Given the description of an element on the screen output the (x, y) to click on. 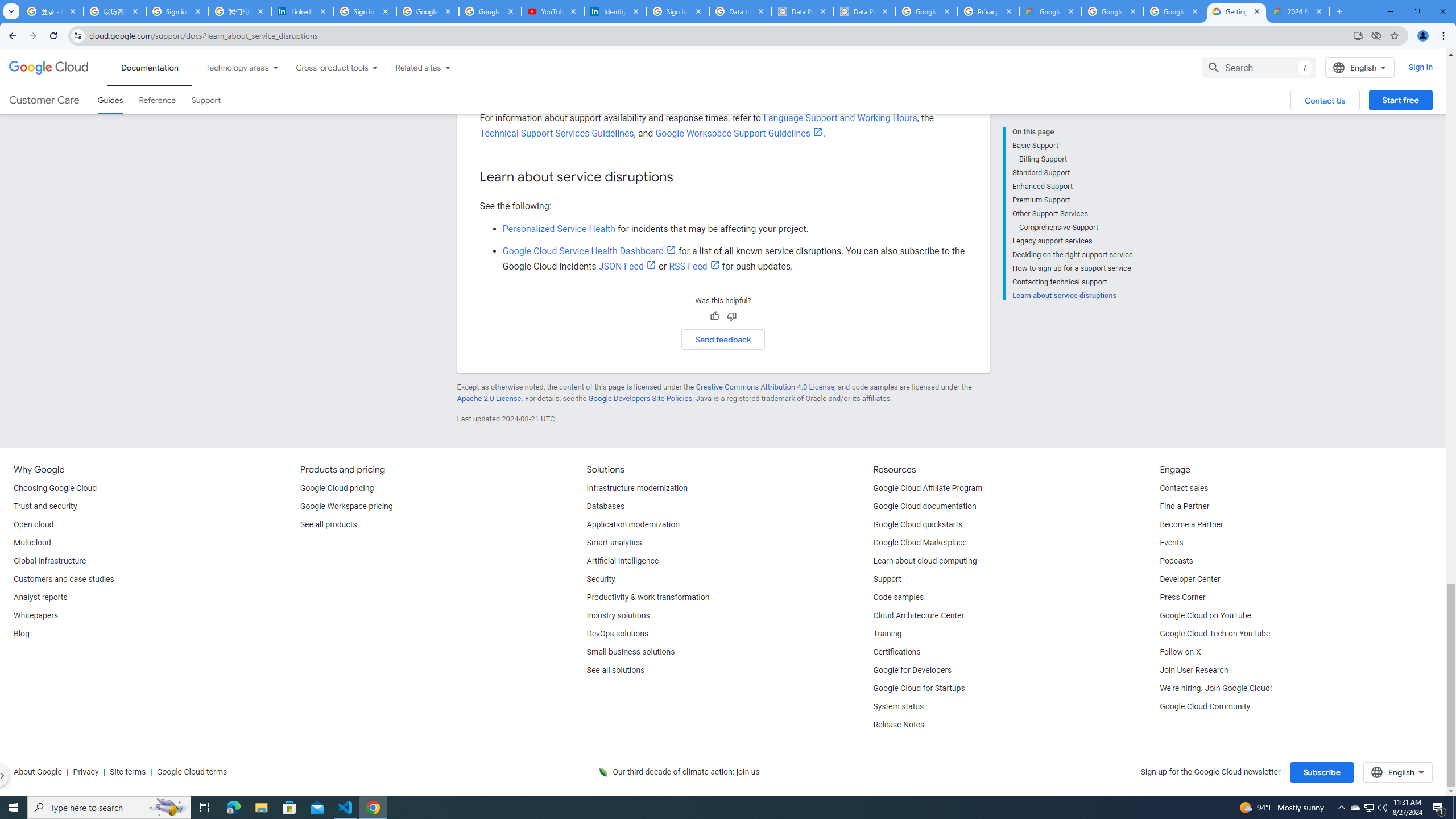
Code samples (898, 597)
Blog (21, 633)
Subscribe (1322, 772)
Google Cloud (48, 67)
Google Workspace - Specific Terms (1111, 11)
Basic Support (1071, 145)
Data Privacy Framework (864, 11)
System status (898, 706)
Application modernization (632, 524)
RSS Feed (694, 266)
Start free (1400, 100)
Training (887, 633)
Certifications (896, 651)
